Given the description of an element on the screen output the (x, y) to click on. 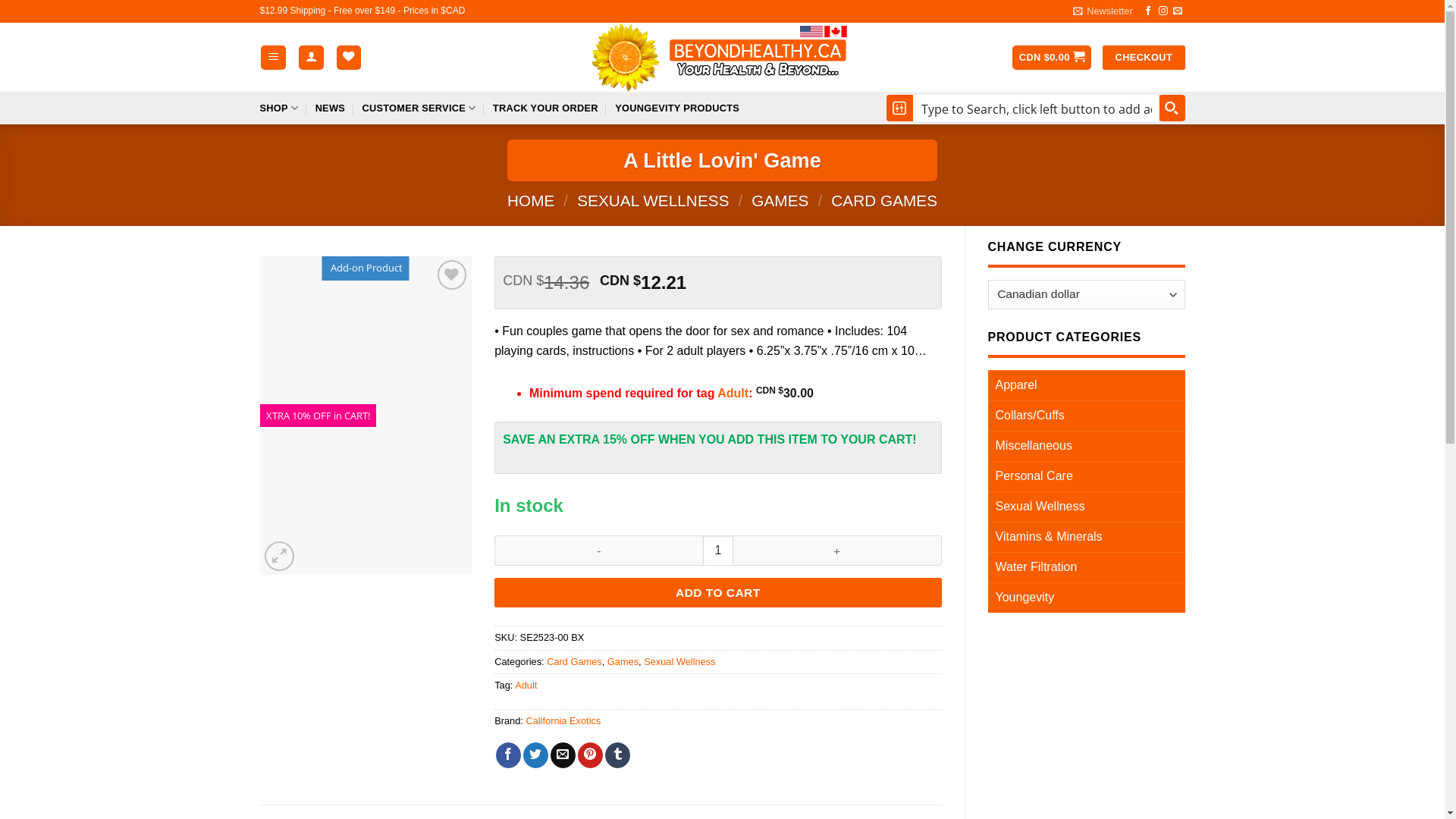
Share on Facebook Element type: hover (507, 755)
Adult Element type: text (732, 392)
Sexual Wellness Element type: text (1085, 506)
Zoom Element type: hover (279, 556)
Follow on Facebook Element type: hover (1147, 11)
Share on Twitter Element type: hover (535, 755)
GAMES Element type: text (779, 200)
YOUNGEVITY PRODUCTS Element type: text (677, 107)
Collars/Cuffs Element type: text (1085, 415)
HOME Element type: text (530, 200)
Youngevity Element type: text (1085, 597)
Water Filtration Element type: text (1085, 567)
Sexual Wellness Element type: text (679, 661)
Apparel Element type: text (1085, 385)
NEWS Element type: text (330, 107)
Personal Care Element type: text (1085, 476)
Skip to content Element type: text (0, 0)
Pin on Pinterest Element type: hover (589, 755)
Card Games Element type: text (574, 661)
Newsletter Element type: text (1102, 11)
Adult Element type: text (525, 684)
Vitamins & Minerals Element type: text (1085, 536)
Share on Tumblr Element type: hover (617, 755)
CHECKOUT Element type: text (1143, 57)
Follow on Instagram Element type: hover (1162, 11)
Miscellaneous Element type: text (1085, 445)
CDN $0.00 Element type: text (1051, 57)
CUSTOMER SERVICE Element type: text (418, 107)
Email to a Friend Element type: hover (562, 755)
SEXUAL WELLNESS Element type: text (652, 200)
Games Element type: text (622, 661)
TRACK YOUR ORDER Element type: text (545, 107)
SHOP Element type: text (278, 107)
CARD GAMES Element type: text (884, 200)
California Exotics Element type: text (562, 720)
ADD TO CART Element type: text (717, 592)
A Little Lovin' Game 1 Element type: hover (365, 415)
Send us an email Element type: hover (1177, 11)
